Given the description of an element on the screen output the (x, y) to click on. 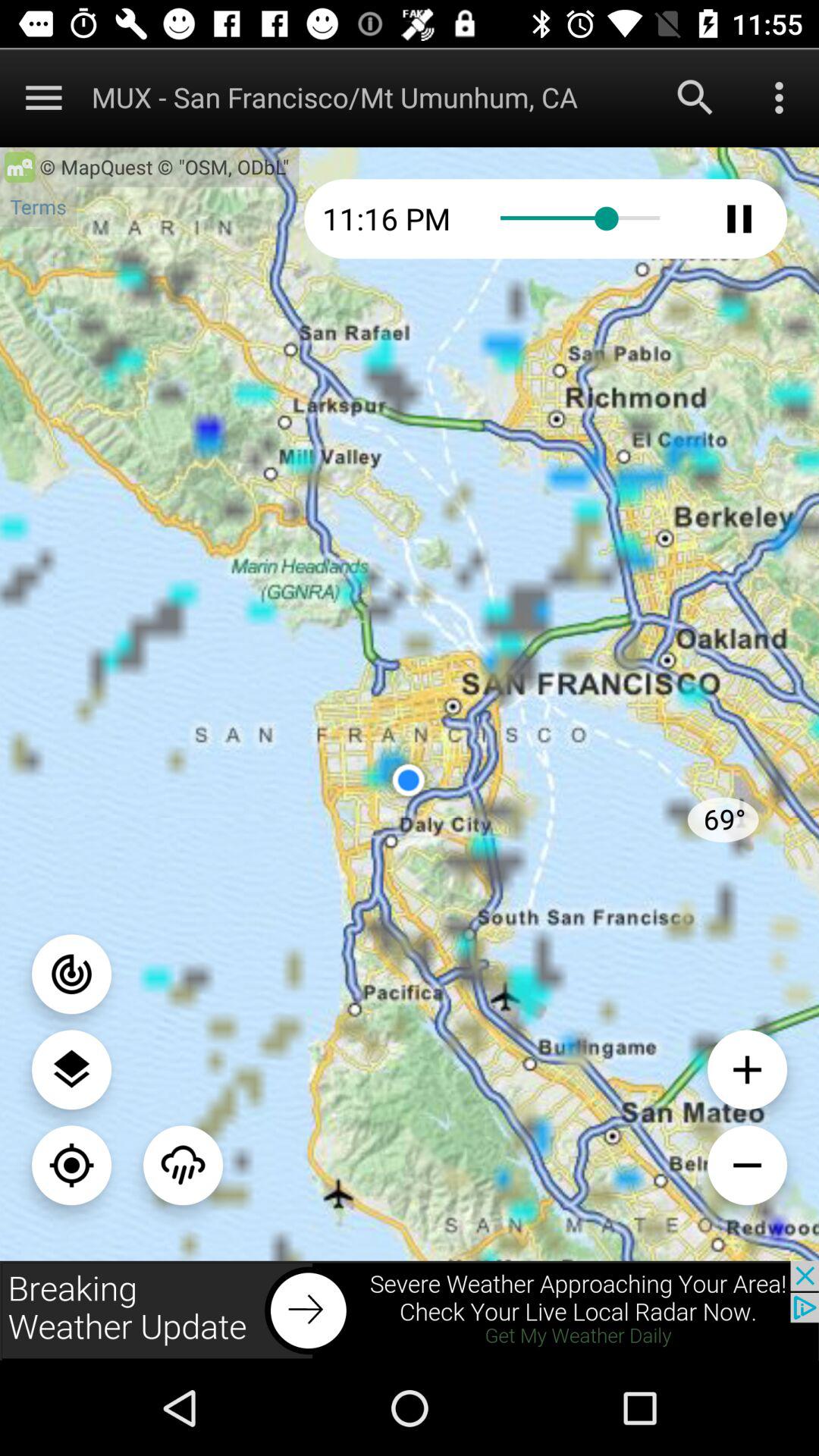
add increment button (747, 1069)
